Given the description of an element on the screen output the (x, y) to click on. 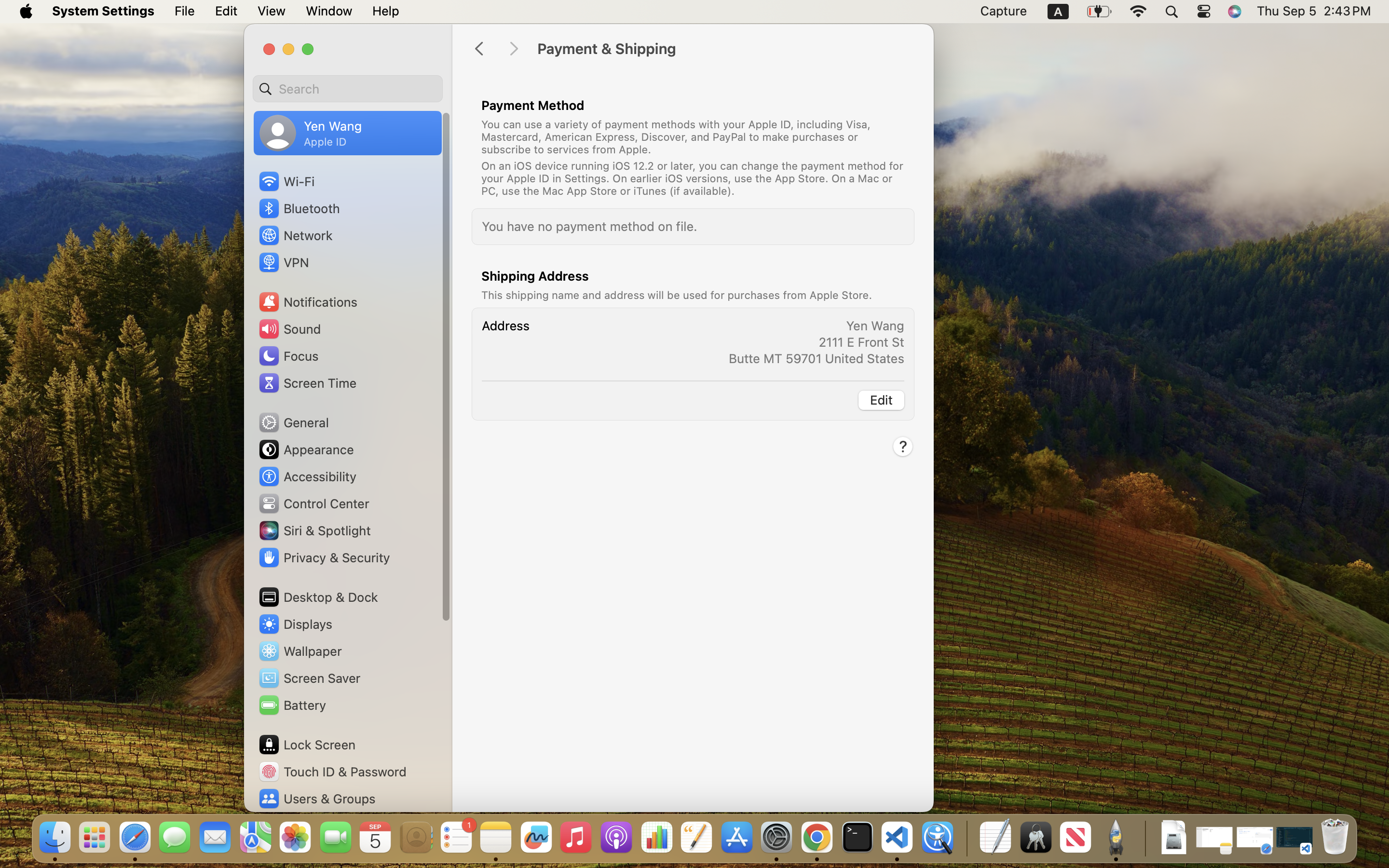
Shipping Address Element type: AXStaticText (535, 275)
0.4285714328289032 Element type: AXDockItem (965, 837)
Yen Wang Element type: AXStaticText (874, 325)
Payment Method Element type: AXStaticText (532, 104)
Bluetooth Element type: AXStaticText (298, 207)
